Given the description of an element on the screen output the (x, y) to click on. 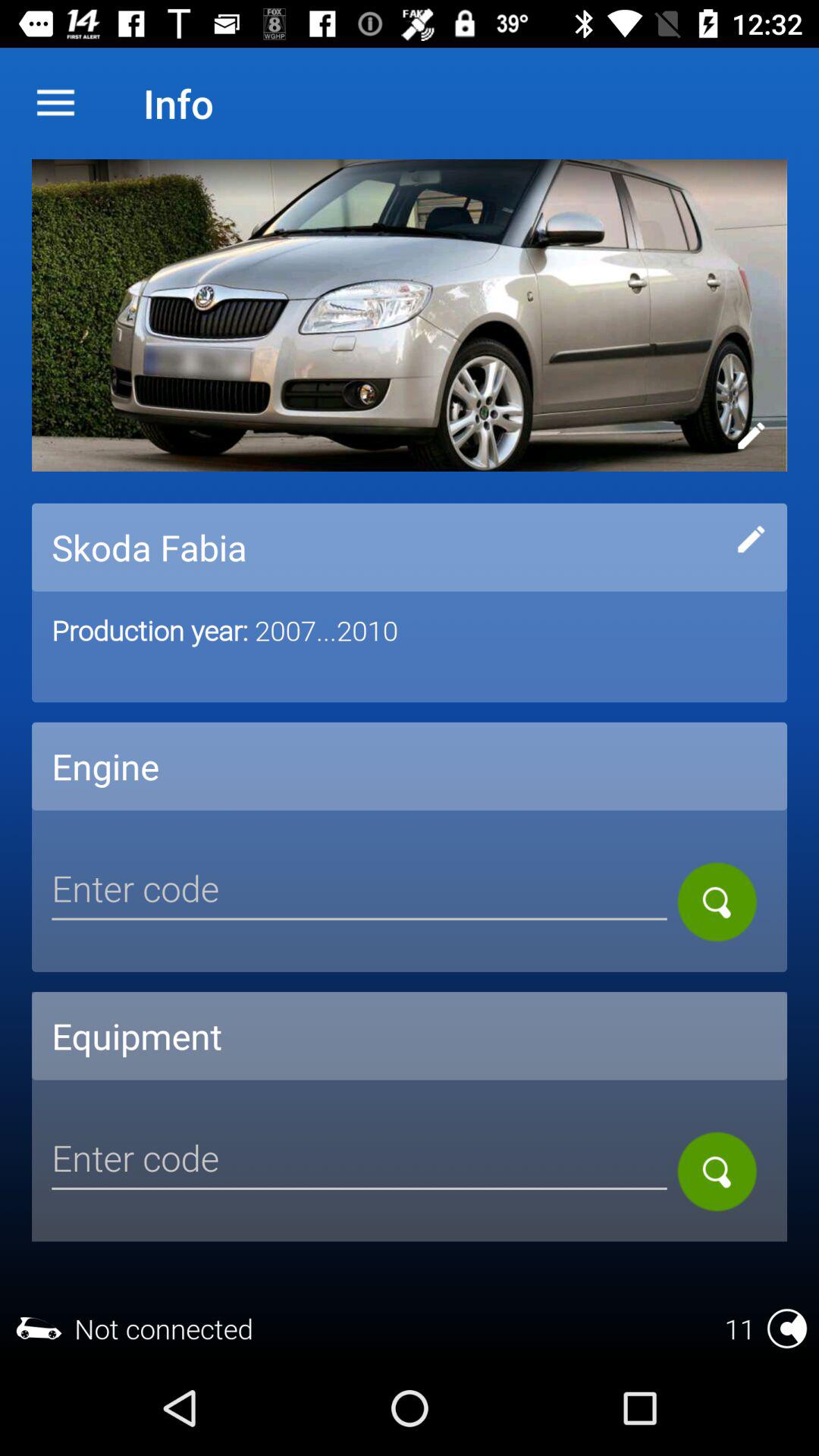
enter code (359, 1160)
